Given the description of an element on the screen output the (x, y) to click on. 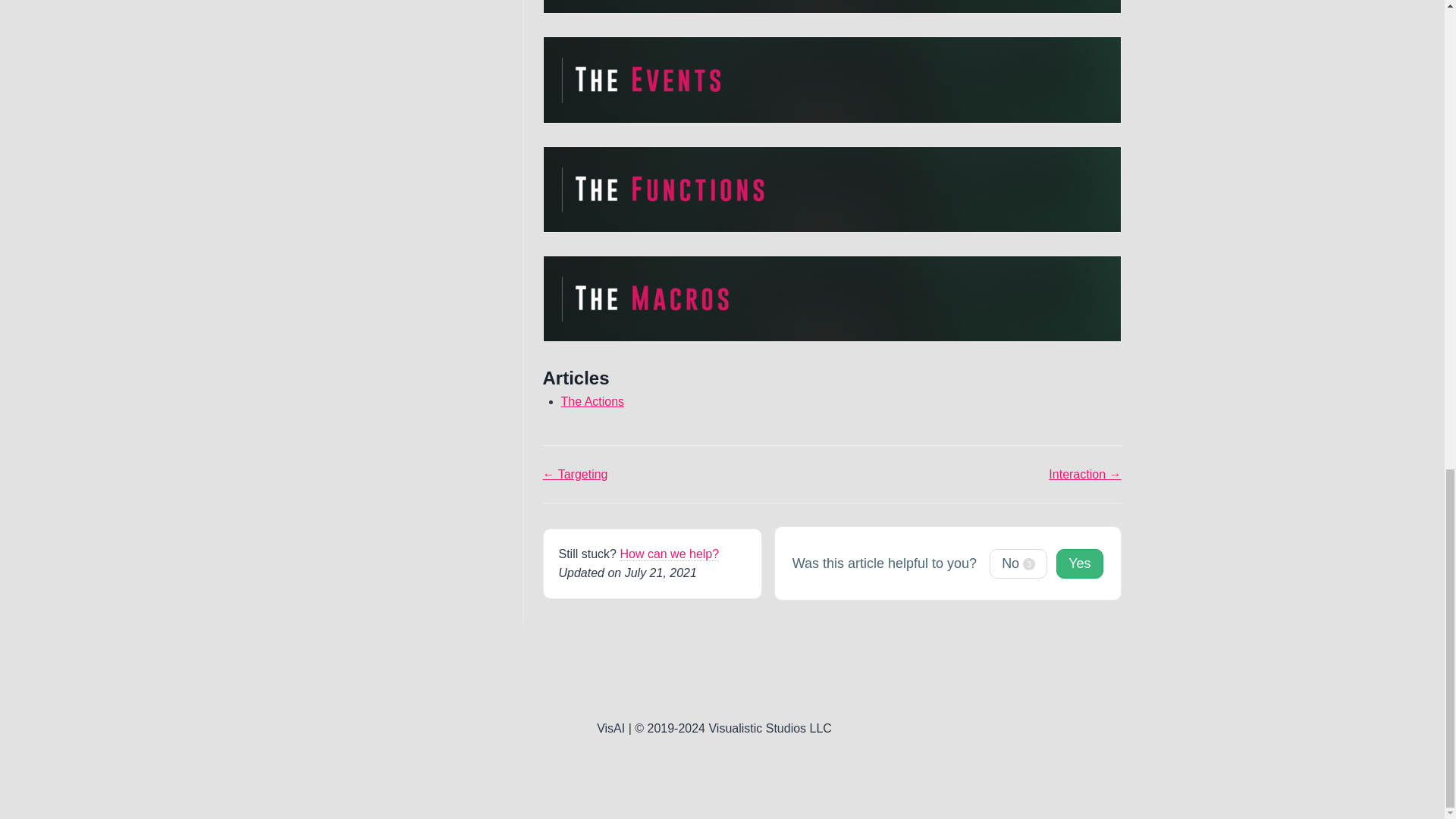
How can we help? (669, 554)
The Actions (592, 400)
No votes yet (1079, 563)
Yes (1079, 563)
3 persons found this not useful (1018, 563)
